Given the description of an element on the screen output the (x, y) to click on. 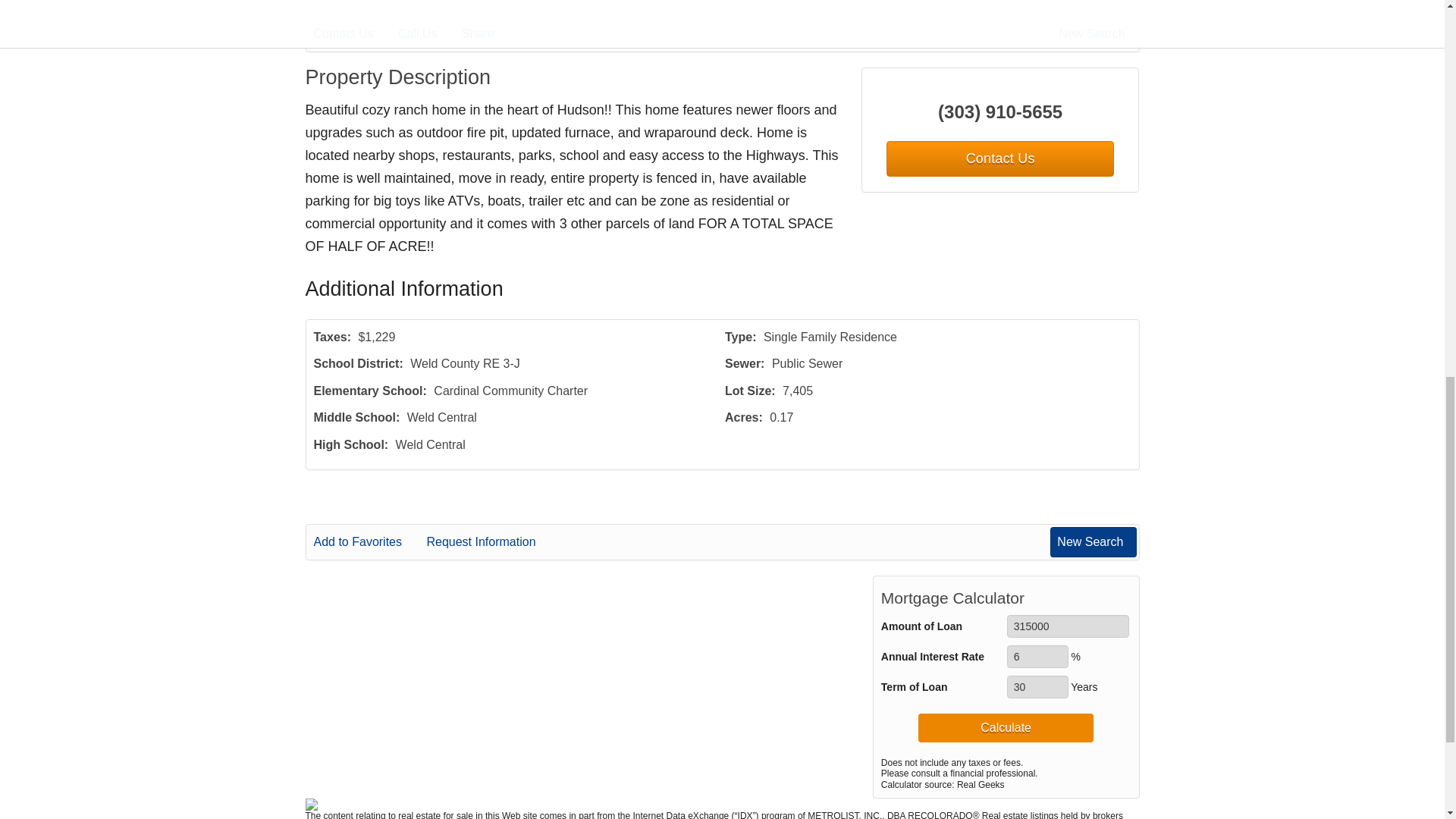
Share (488, 33)
Call Us (427, 33)
30 (1037, 686)
Contact Us (999, 158)
New Search (1094, 33)
6 (1037, 656)
Contact Us (354, 33)
315000 (1068, 626)
